Given the description of an element on the screen output the (x, y) to click on. 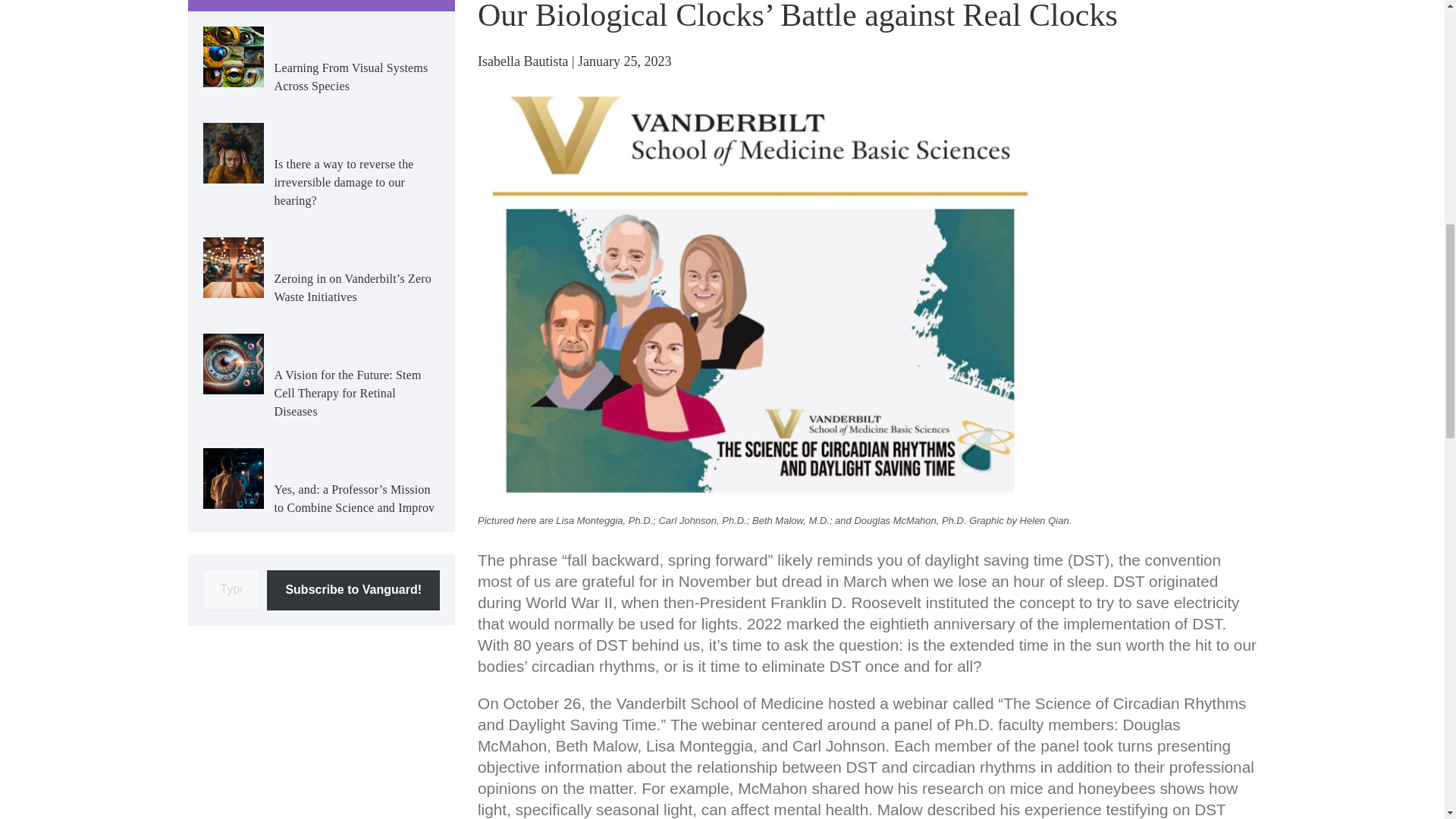
Please fill in this field. (231, 589)
